Given the description of an element on the screen output the (x, y) to click on. 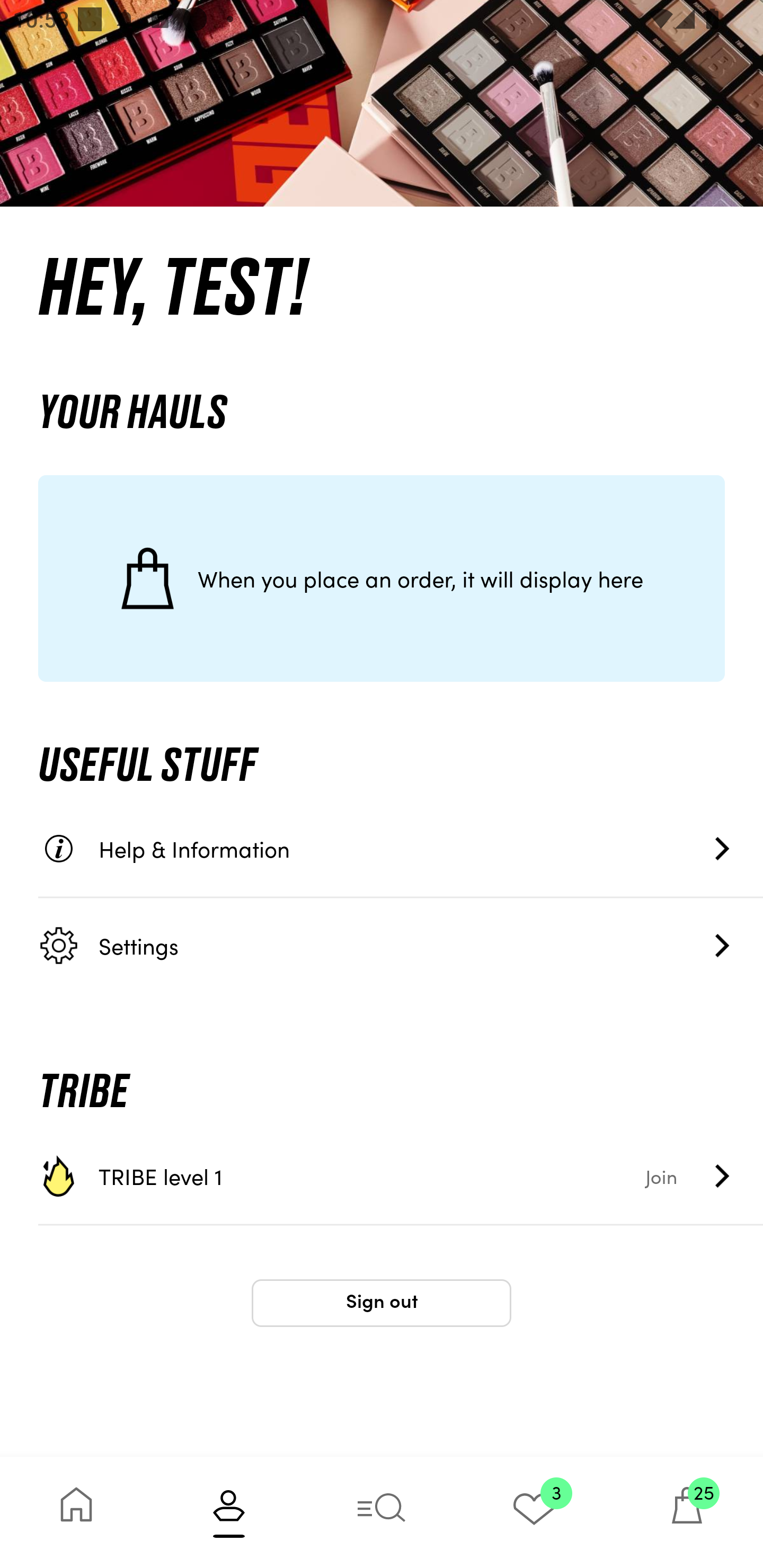
Help & Information (400, 848)
Settings (400, 945)
TRIBE level 1 Join (400, 1175)
Sign out (381, 1302)
3 (533, 1512)
25 (686, 1512)
